Given the description of an element on the screen output the (x, y) to click on. 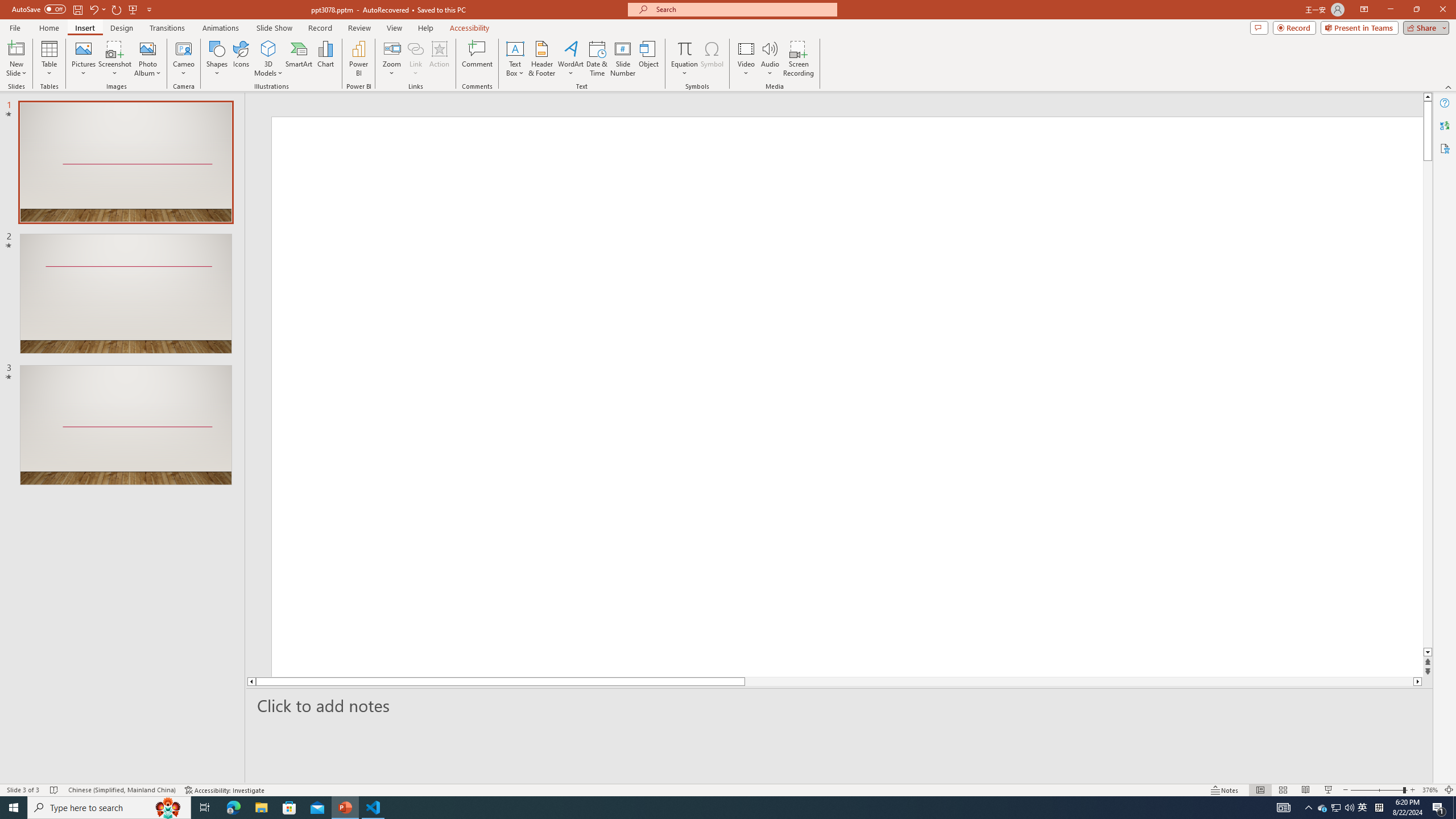
3D Models (268, 58)
SmartArt... (298, 58)
An abstract genetic concept (834, 395)
Photo Album... (147, 58)
Chart... (325, 58)
Screenshot (114, 58)
